Given the description of an element on the screen output the (x, y) to click on. 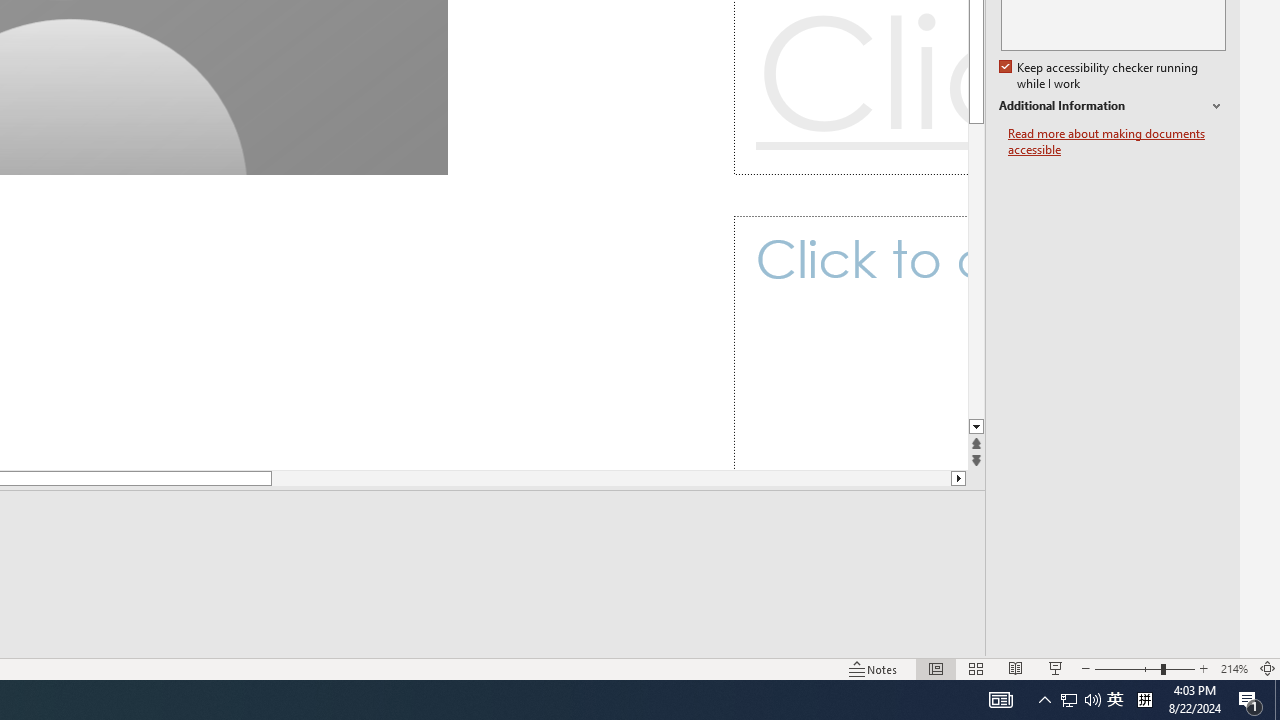
Zoom 214% (1234, 668)
